Given the description of an element on the screen output the (x, y) to click on. 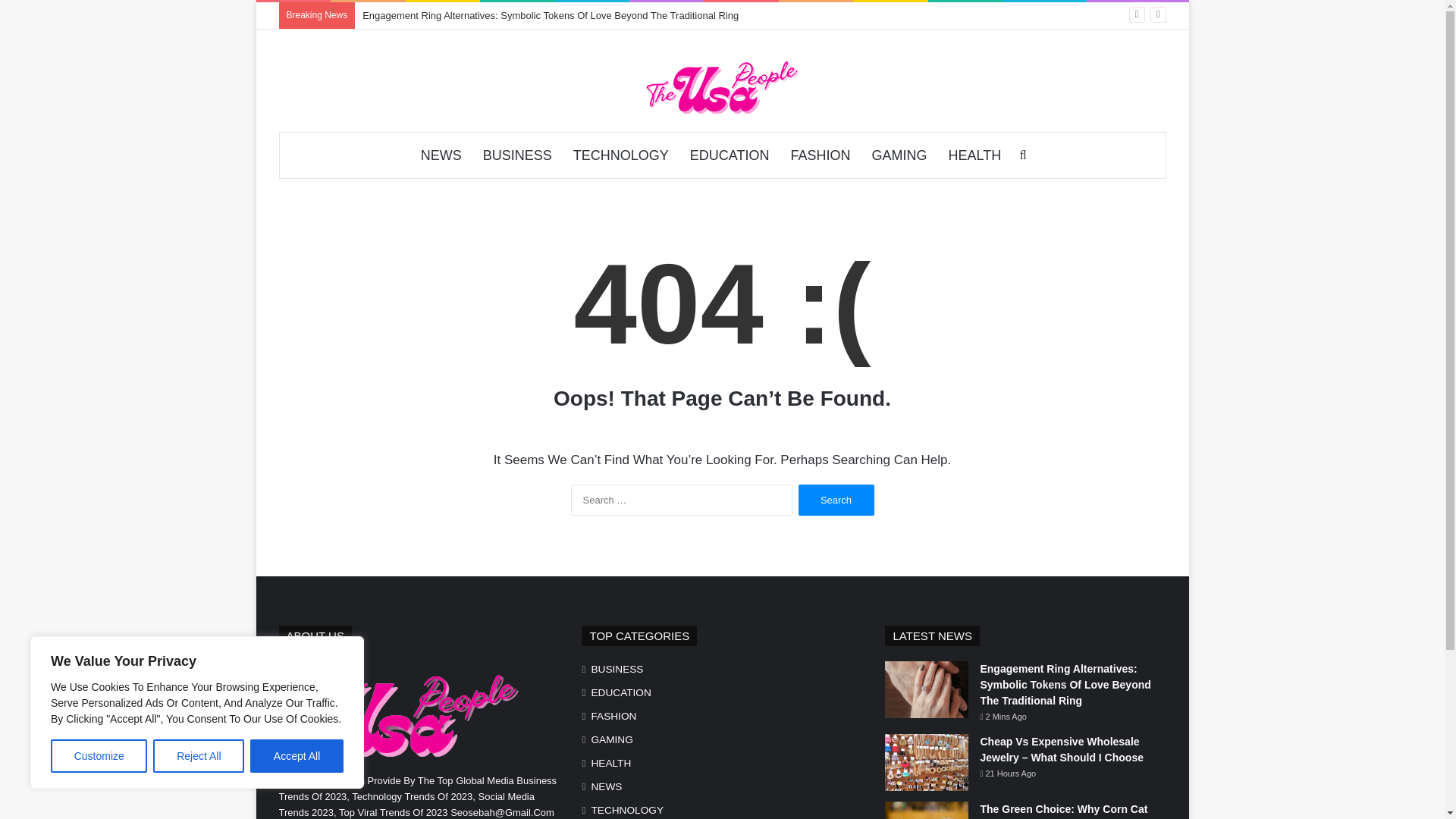
Search (835, 499)
HEALTH (974, 155)
NEWS (606, 786)
TECHNOLOGY (620, 155)
BUSINESS (516, 155)
FASHION (613, 715)
Accept All (296, 756)
HEALTH (610, 763)
GAMING (611, 739)
Search (835, 499)
Search (835, 499)
Reject All (198, 756)
The Usa People (721, 86)
Customize (98, 756)
EDUCATION (729, 155)
